Given the description of an element on the screen output the (x, y) to click on. 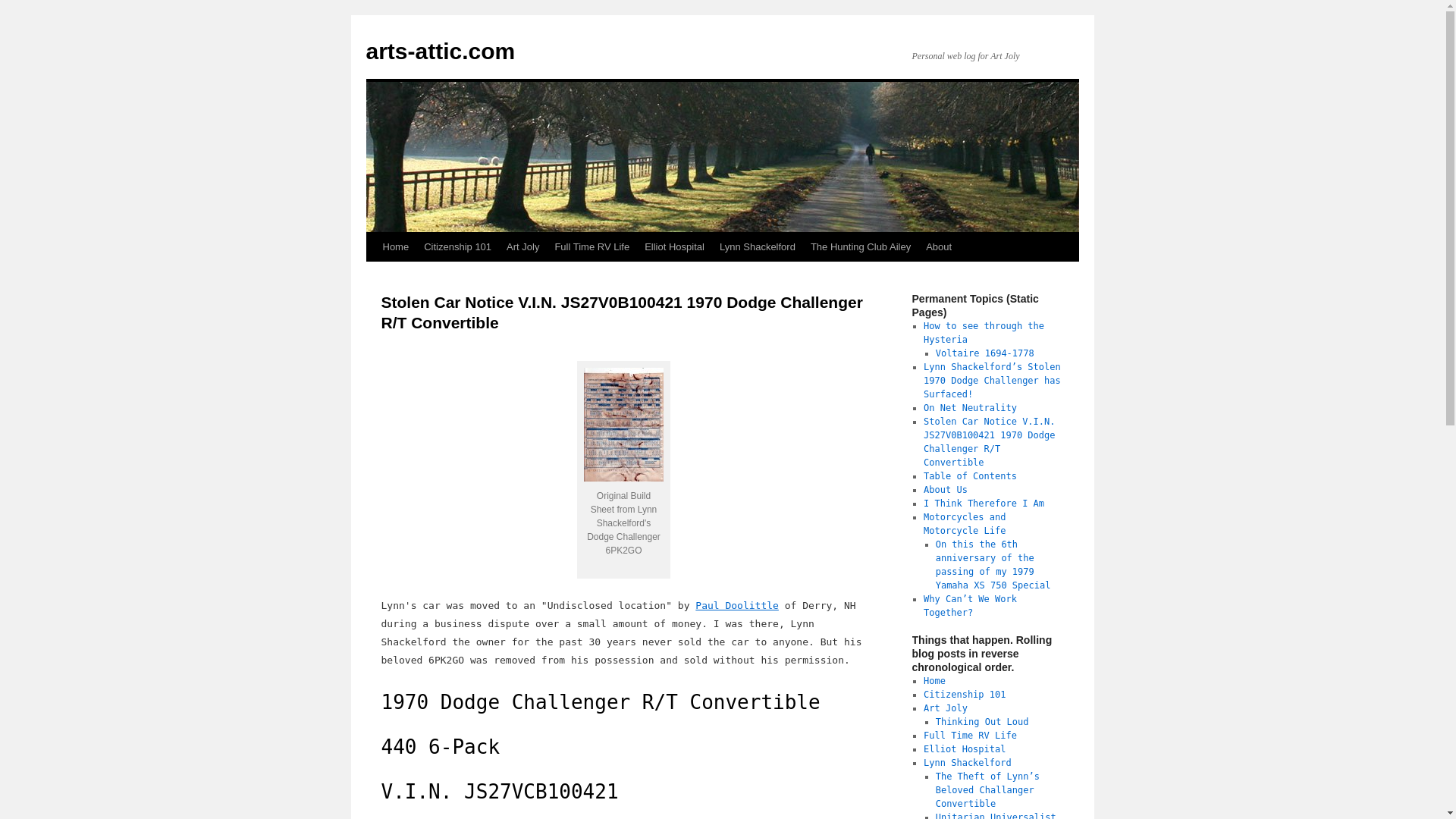
Full Time RV Life (592, 246)
Thinking Out Loud (982, 721)
Home (933, 680)
Art Joly (523, 246)
The Hunting Club Ailey (860, 246)
Citizenship 101 (964, 694)
On Net Neutrality (969, 407)
Full Time RV Life (969, 735)
Art Joly (945, 707)
Motorcycles and Motorcycle Life (964, 523)
